Given the description of an element on the screen output the (x, y) to click on. 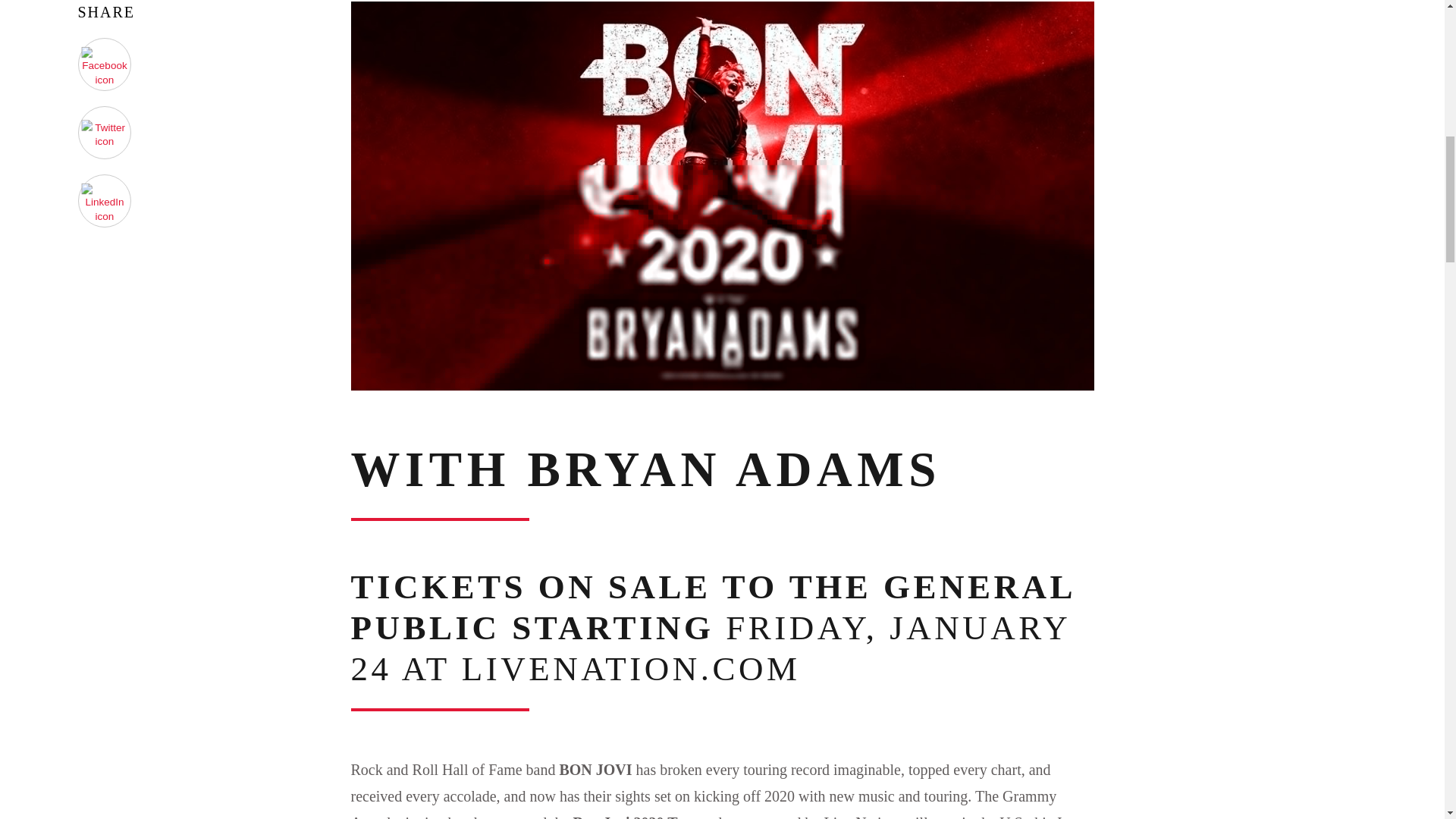
Share on Facebook (104, 64)
Share on Twitter (104, 132)
Share on LinkedIn (104, 200)
